Given the description of an element on the screen output the (x, y) to click on. 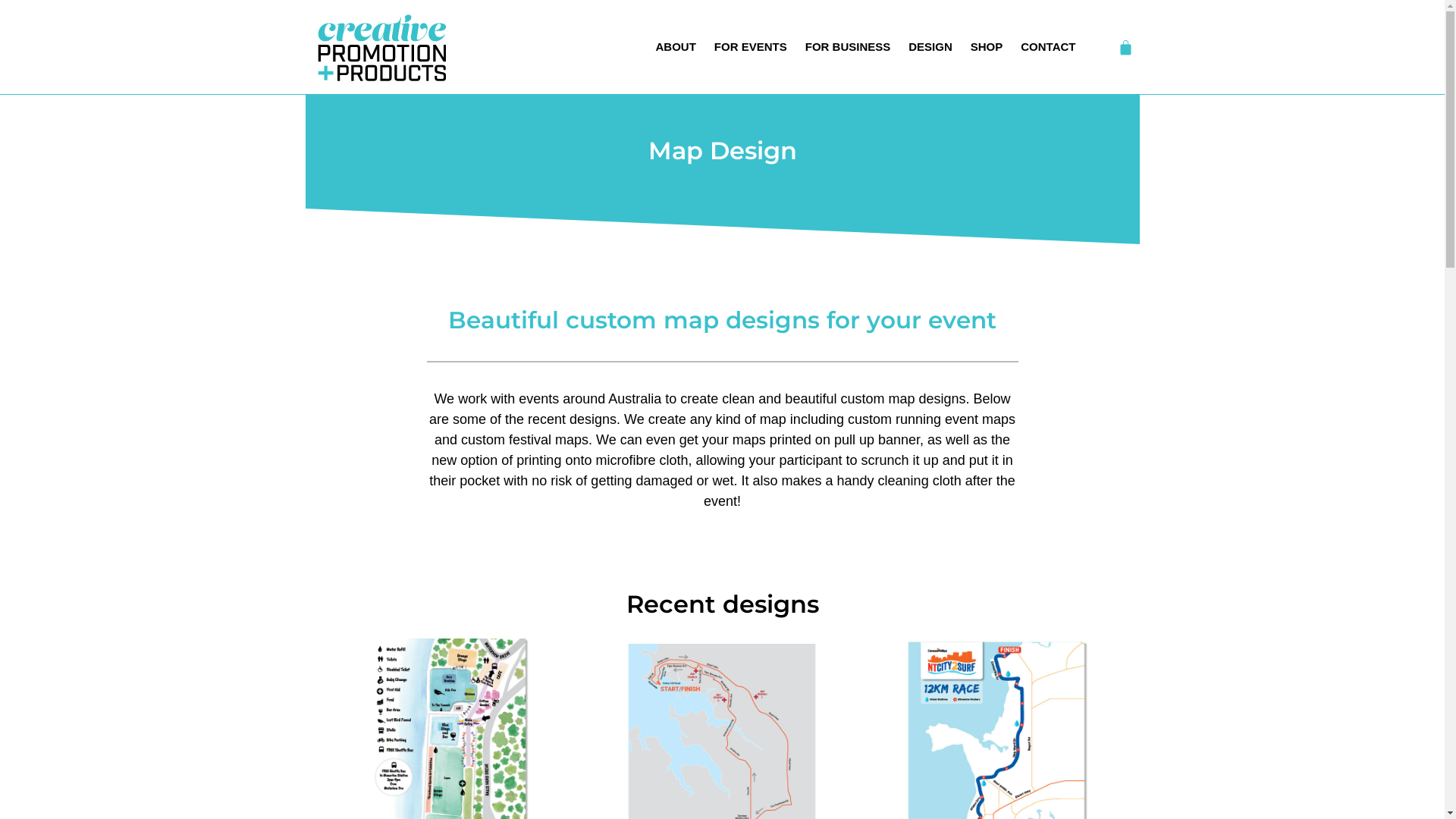
FOR EVENTS Element type: text (750, 46)
DESIGN Element type: text (930, 46)
SHOP Element type: text (986, 46)
FOR BUSINESS Element type: text (848, 46)
ABOUT Element type: text (675, 46)
CONTACT Element type: text (1047, 46)
